Given the description of an element on the screen output the (x, y) to click on. 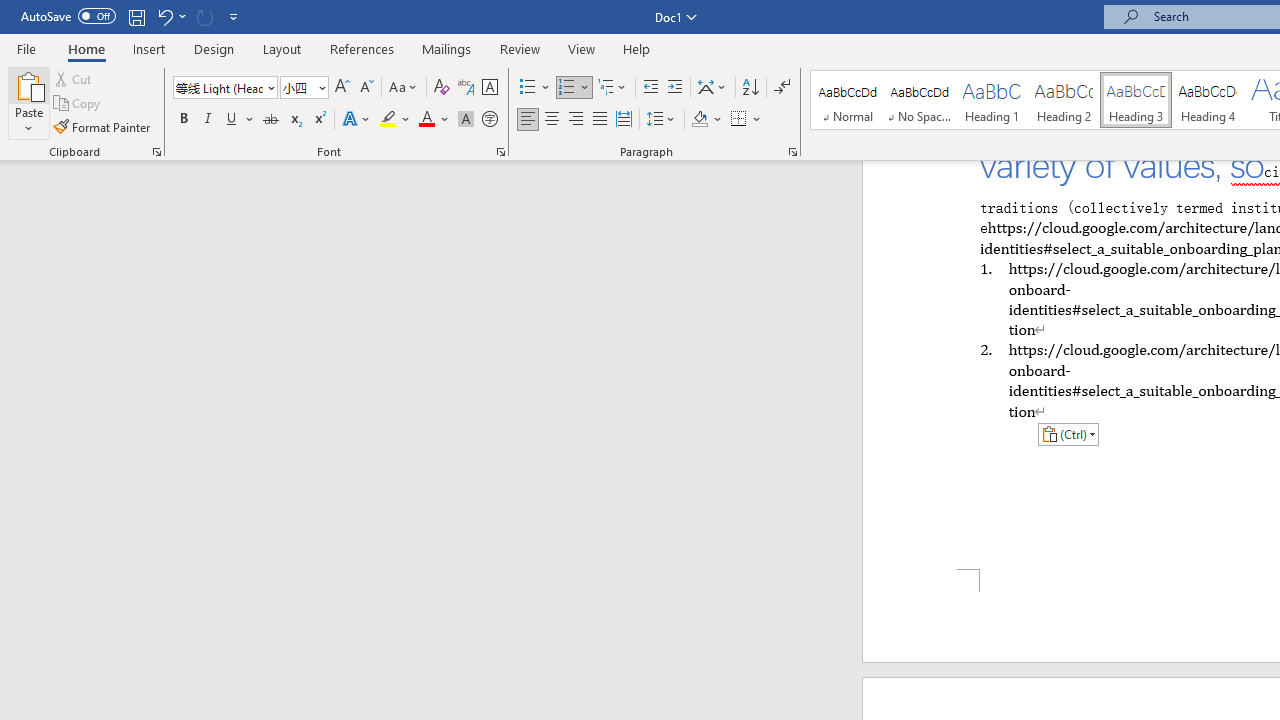
Office Clipboard... (156, 151)
Font Color Blue-Gray, Text 2 (426, 119)
Character Border (489, 87)
Clear Formatting (442, 87)
Text Effects and Typography (357, 119)
Action: Paste alternatives (1068, 434)
Font... (500, 151)
Shading RGB(0, 0, 0) (699, 119)
Align Left (527, 119)
